Given the description of an element on the screen output the (x, y) to click on. 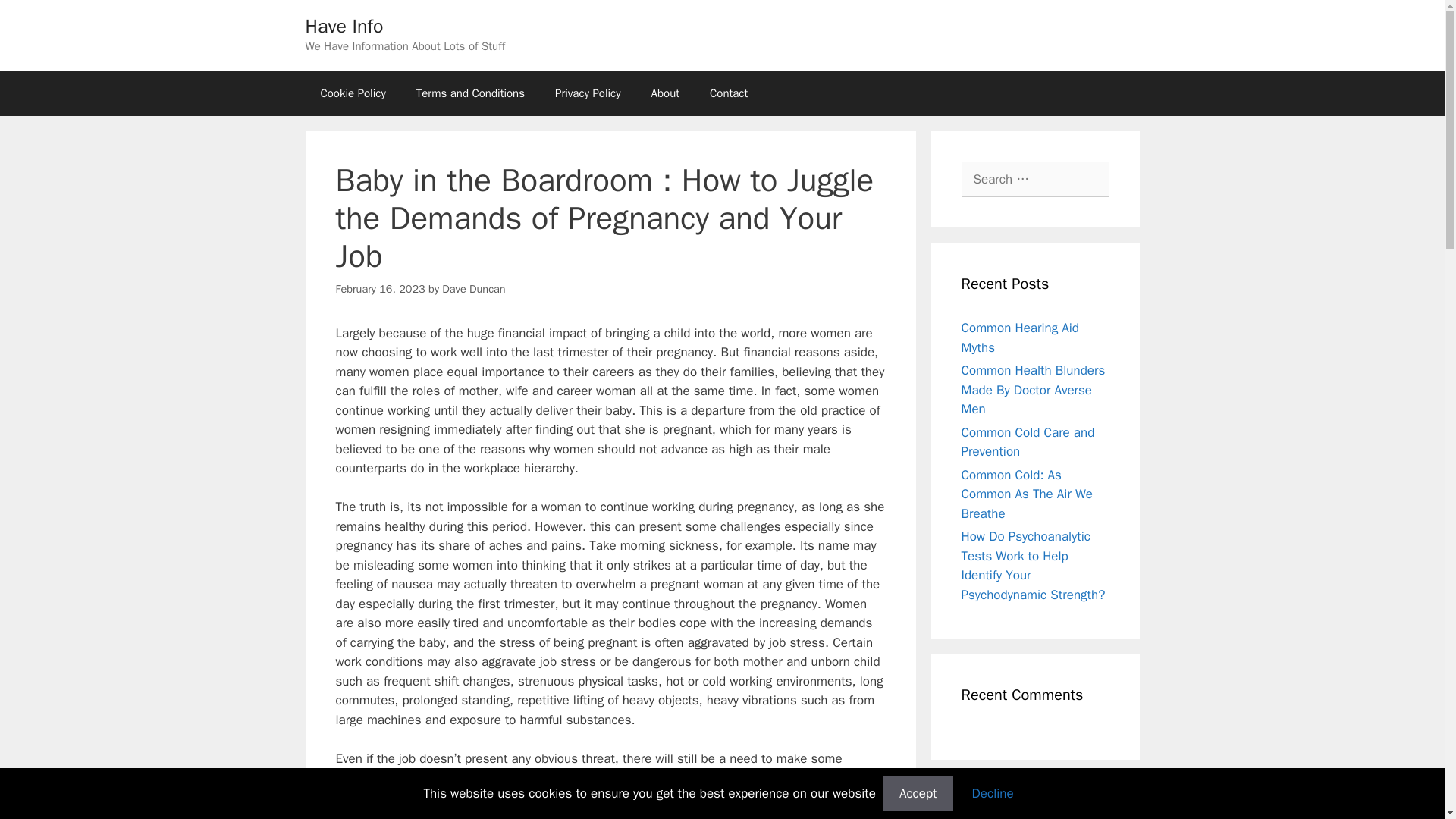
Dave Duncan (473, 288)
Common Health Blunders Made By Doctor Averse Men (1032, 389)
Privacy Policy (588, 92)
Decline (992, 793)
Common Cold: As Common As The Air We Breathe (1026, 493)
Search for: (1034, 178)
Contact (728, 92)
Terms and Conditions (470, 92)
Common Hearing Aid Myths (1020, 337)
Common Cold Care and Prevention (1027, 442)
Cookie Policy (352, 92)
About (665, 92)
Search (35, 18)
Accept (918, 792)
